Given the description of an element on the screen output the (x, y) to click on. 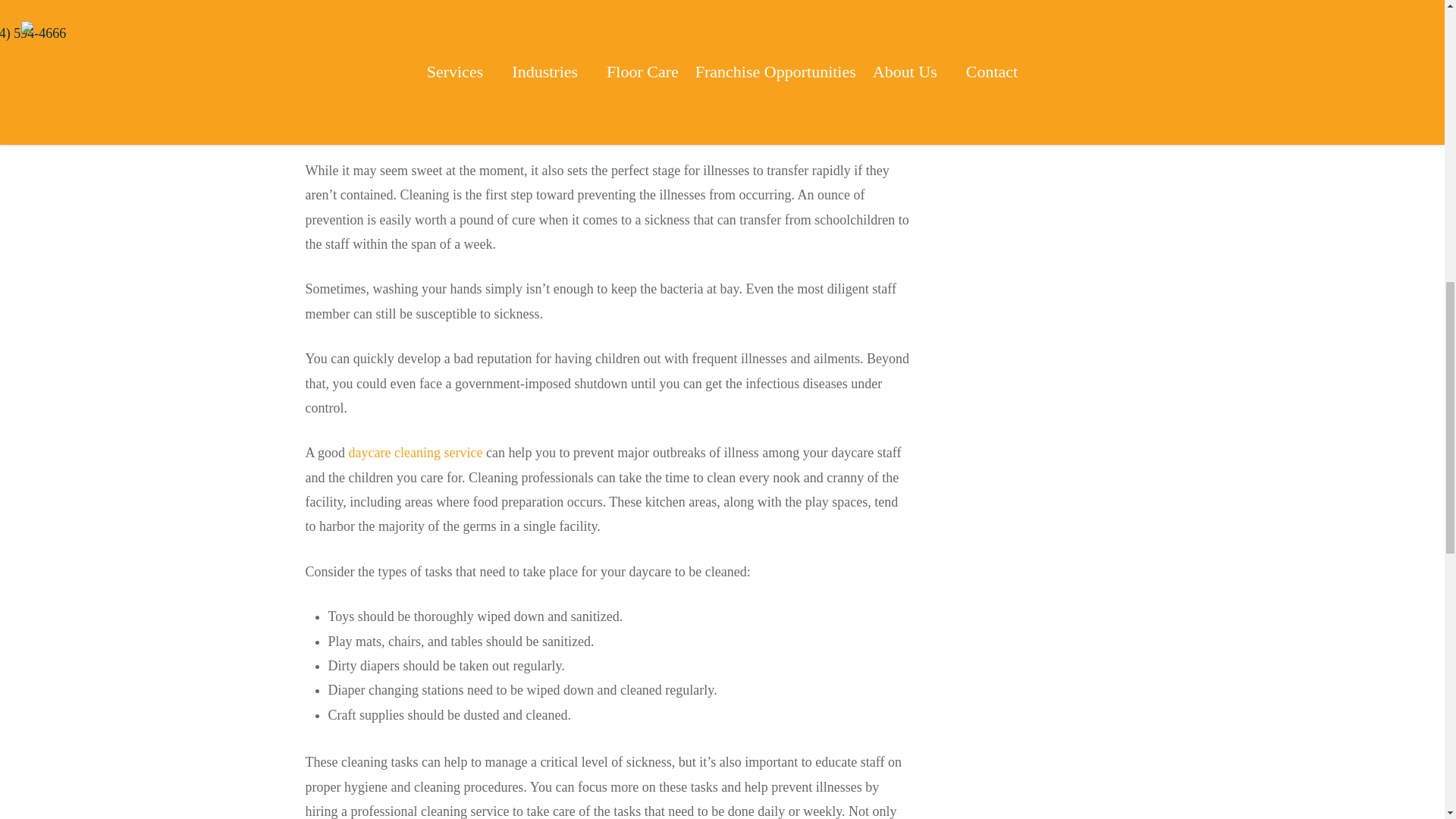
daycare cleaning service (416, 452)
